Given the description of an element on the screen output the (x, y) to click on. 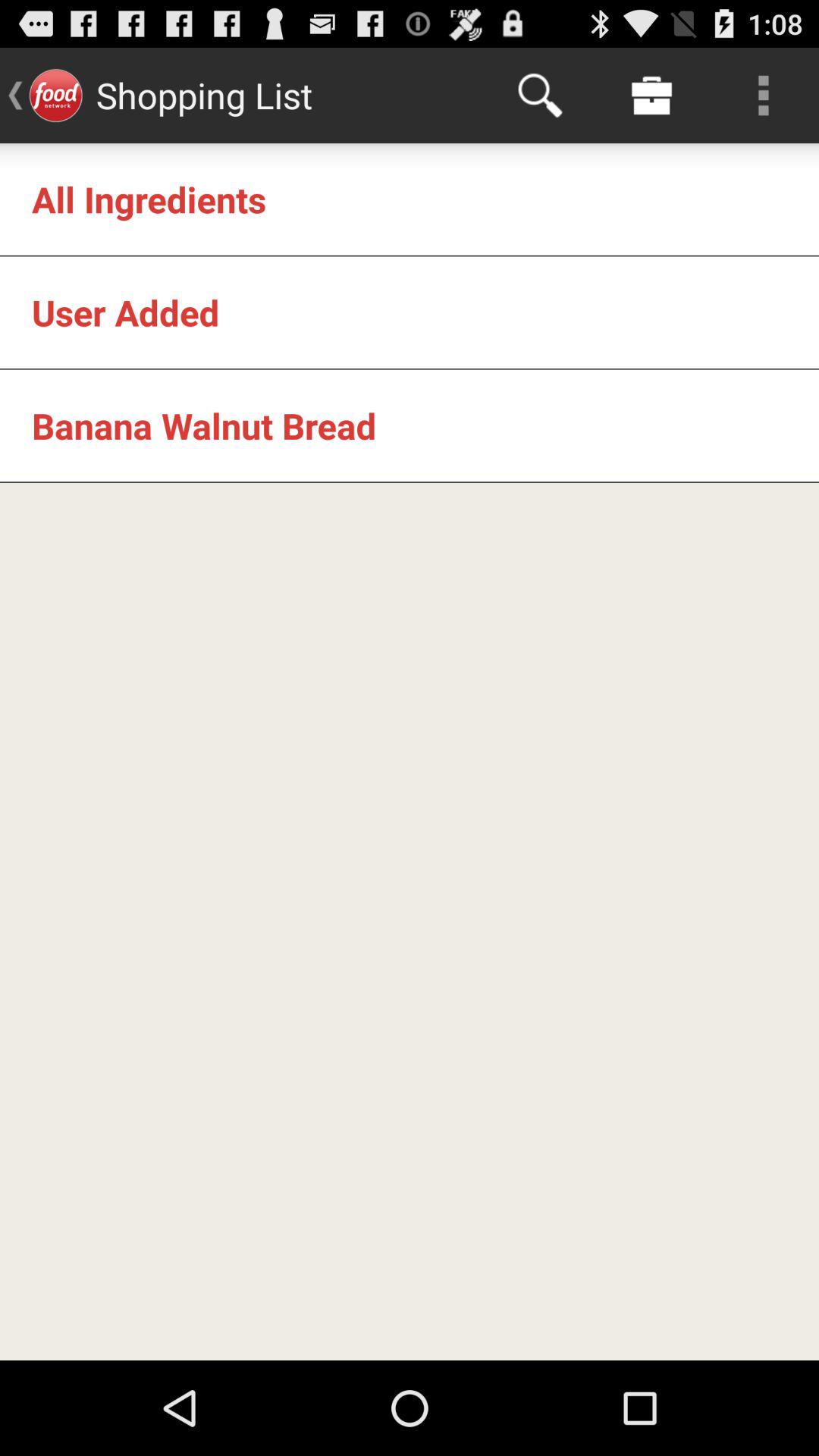
select the icon above the user added item (148, 199)
